Given the description of an element on the screen output the (x, y) to click on. 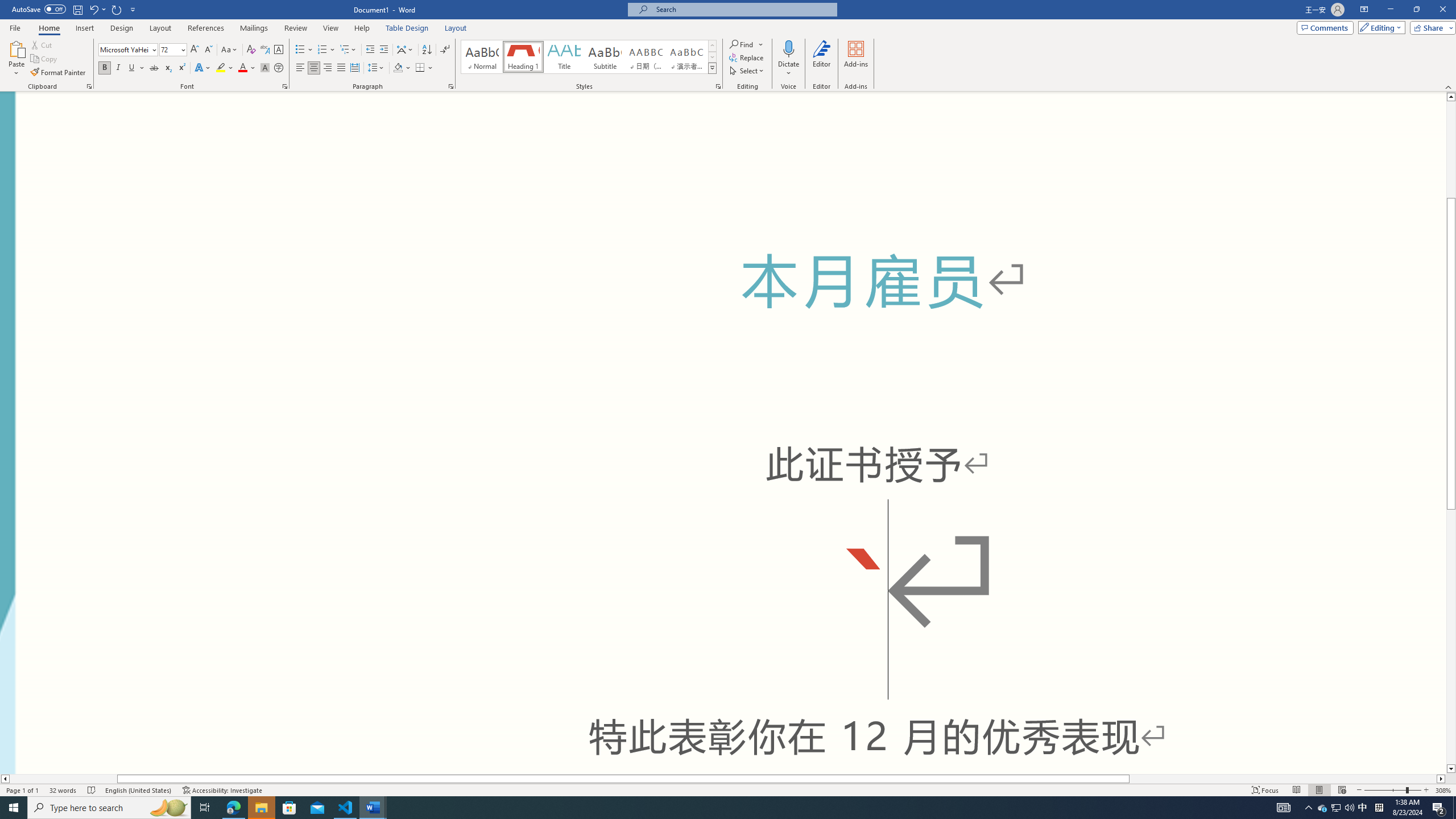
Review (295, 28)
Word Count 32 words (63, 790)
Customize Quick Access Toolbar (133, 9)
Center (313, 67)
Underline (131, 67)
Insert (83, 28)
Asian Layout (405, 49)
Open (182, 49)
Borders (419, 67)
Accessibility Checker Accessibility: Investigate (222, 790)
System (6, 6)
AutomationID: QuickStylesGallery (588, 56)
Find (746, 44)
Font Size (169, 49)
Format Painter (58, 72)
